Given the description of an element on the screen output the (x, y) to click on. 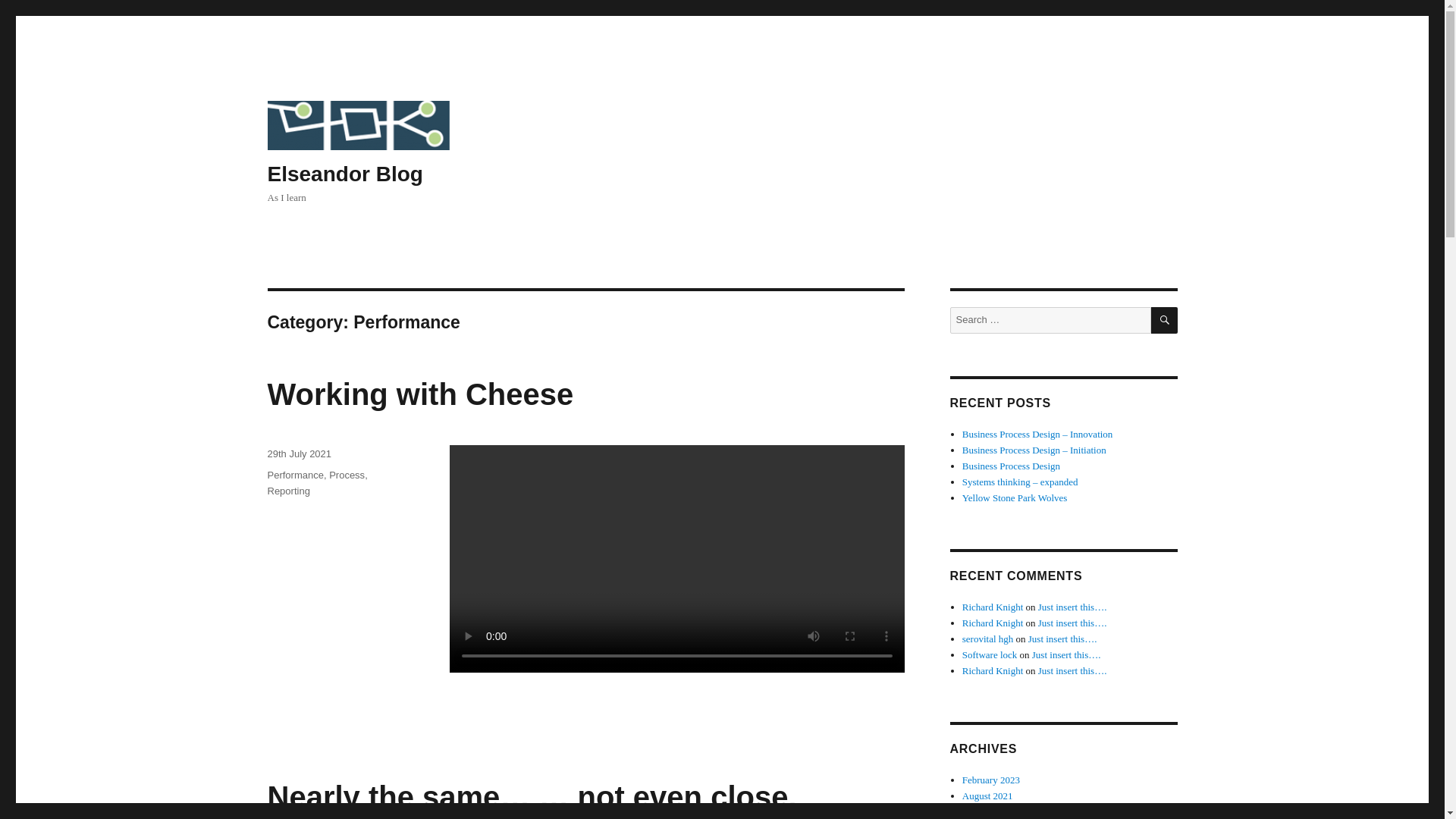
Performance (294, 474)
Process (347, 474)
Reporting (287, 490)
SEARCH (1164, 320)
Business Process Design (1010, 465)
29th July 2021 (298, 453)
Elseandor Blog (344, 173)
Working with Cheese (419, 394)
Yellow Stone Park Wolves (1014, 497)
Richard Knight (992, 622)
Richard Knight (992, 606)
